Given the description of an element on the screen output the (x, y) to click on. 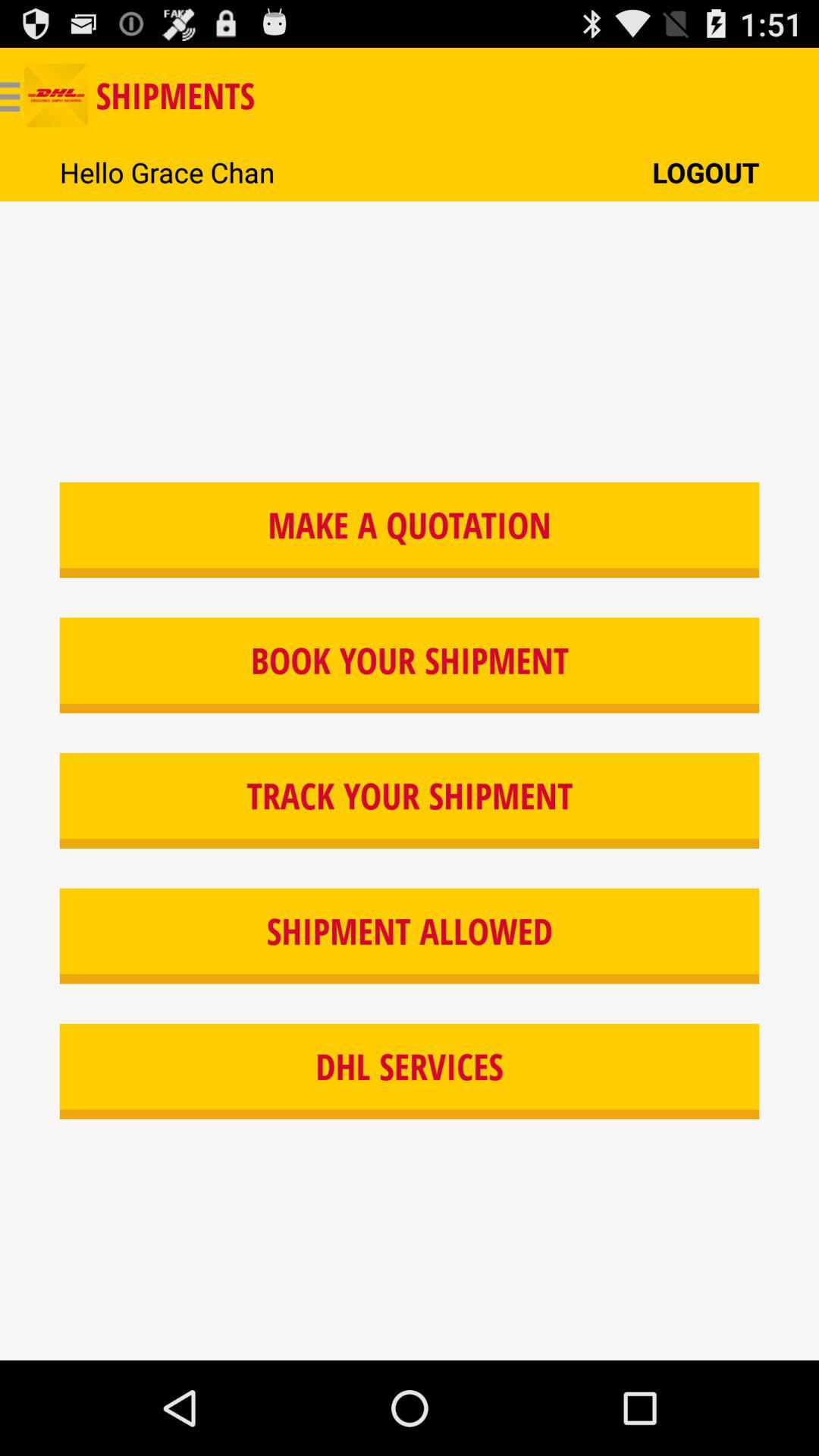
tap the icon below track your shipment button (409, 935)
